Given the description of an element on the screen output the (x, y) to click on. 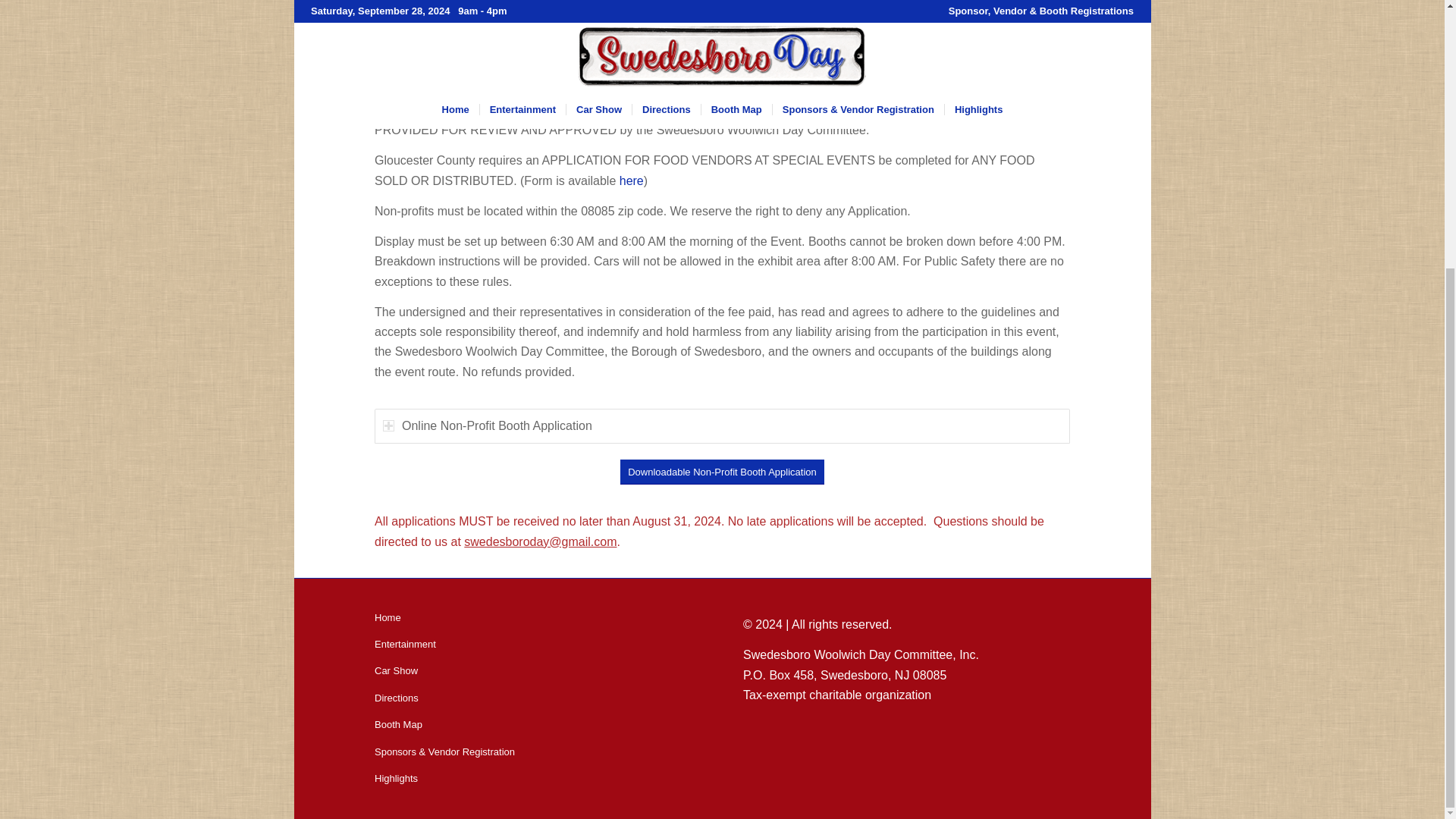
Entertainment (537, 644)
Downloadable Non-Profit Booth Application (722, 471)
Home (537, 618)
Directions (537, 698)
Car Show (537, 671)
here (631, 180)
Highlights (537, 778)
Booth Map (537, 724)
